Given the description of an element on the screen output the (x, y) to click on. 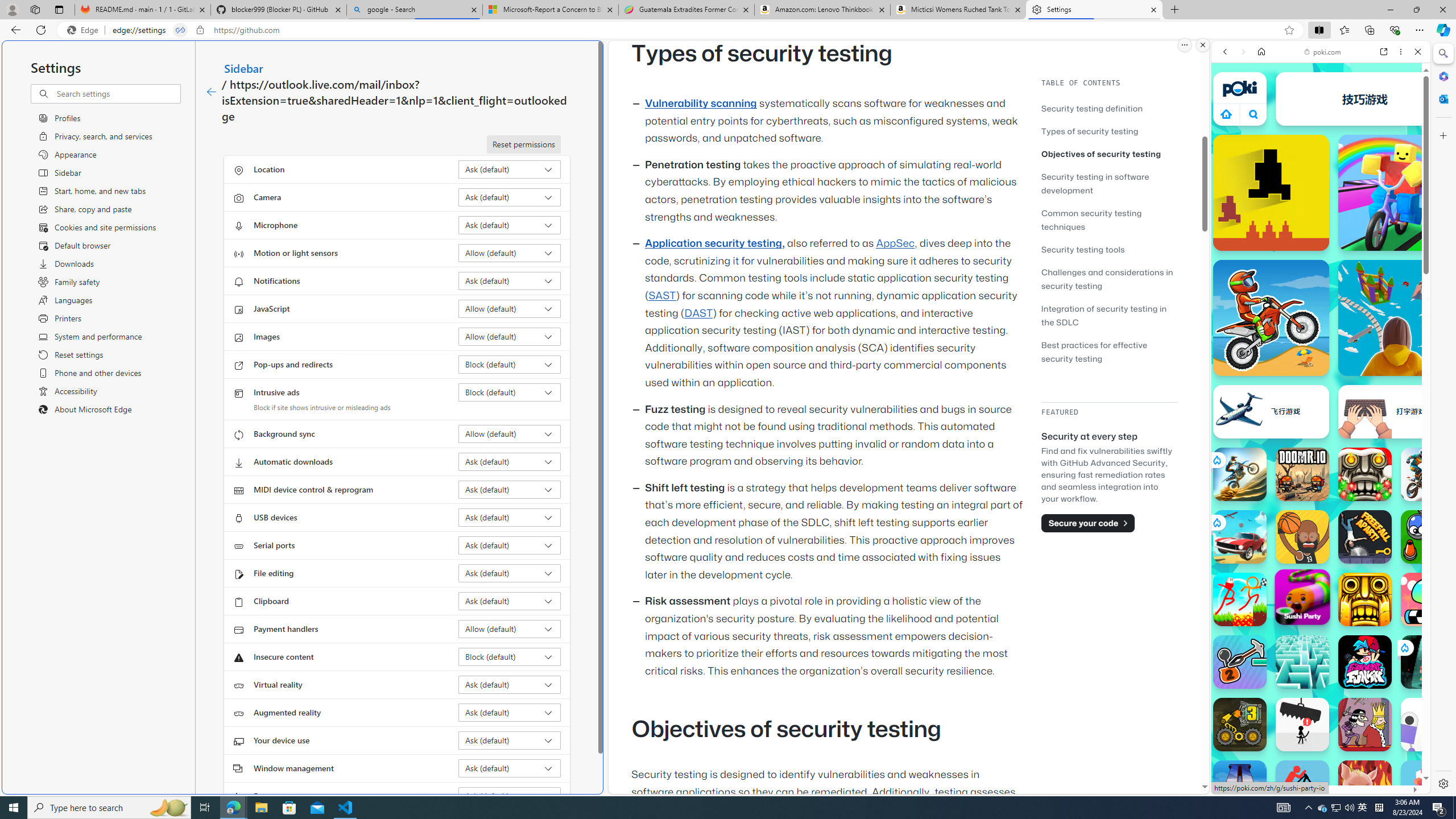
Challenges and considerations in security testing (1109, 279)
New Tab (1174, 9)
Browser essentials (1394, 29)
Search results from poki.com (1299, 443)
Sushi Party Sushi Party (1302, 596)
Murder Murder (1364, 724)
Crazy Cars (1419, 574)
Games for Girls (1320, 407)
Show More Shooting Games (1390, 296)
BoxRob 3 (1239, 724)
VIDEOS (1300, 130)
Class: c01182 (210, 91)
Shooting Games (1320, 295)
Moto X3M (1270, 317)
Outlook (1442, 98)
